Given the description of an element on the screen output the (x, y) to click on. 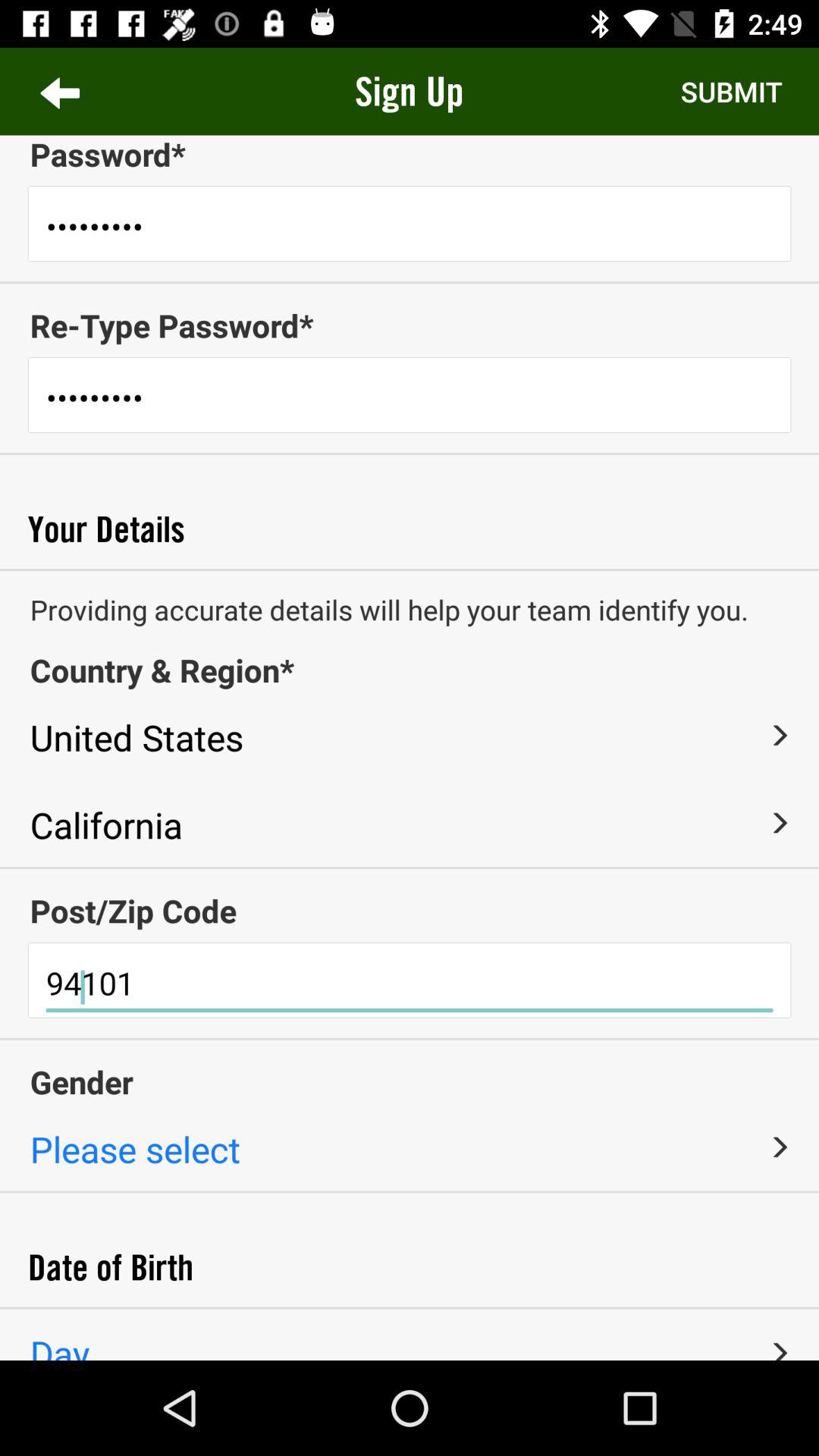
turn off the item above re-type password* item (409, 282)
